Given the description of an element on the screen output the (x, y) to click on. 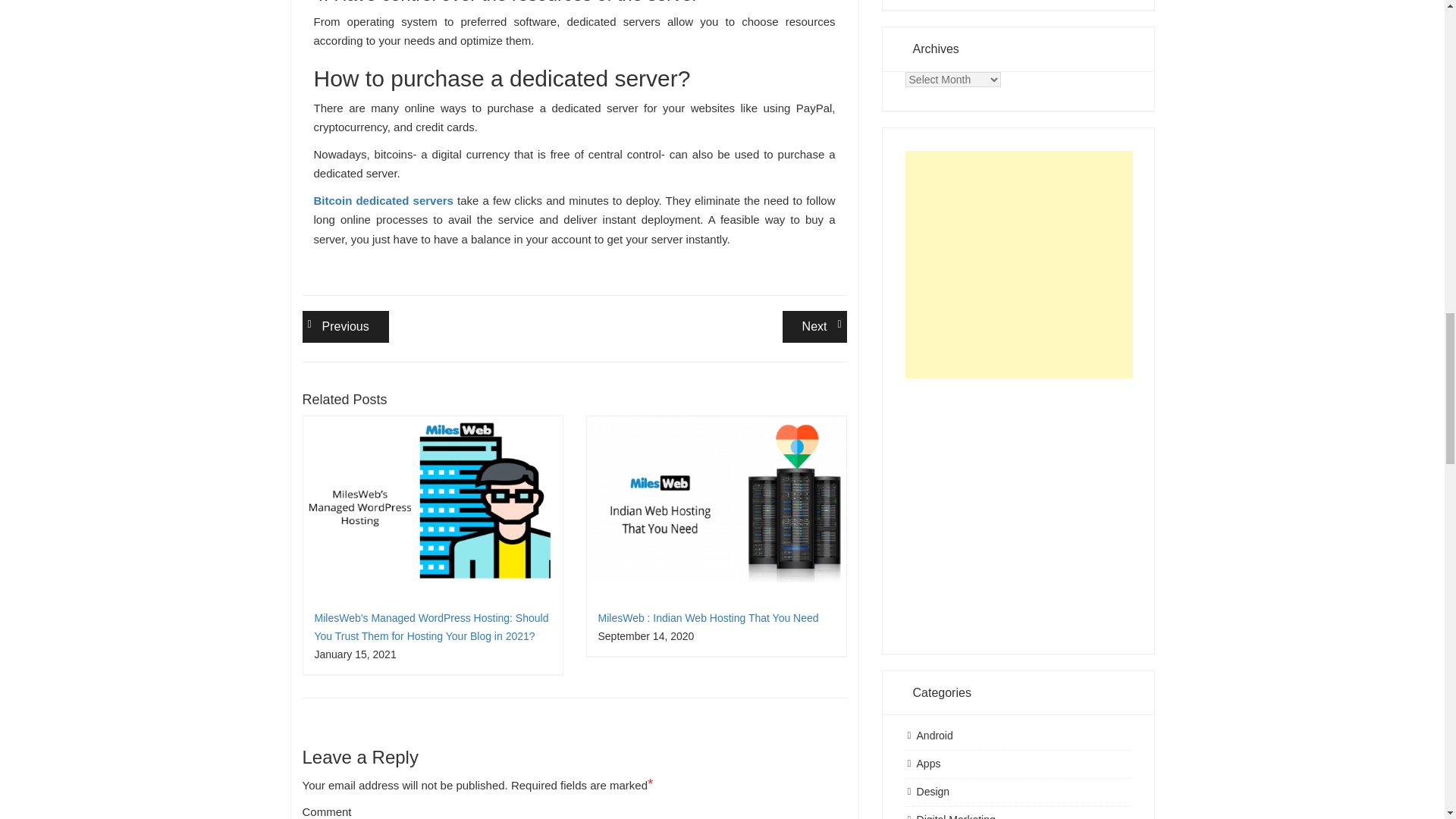
Advertisement (1018, 505)
Bitcoin dedicated servers (344, 327)
MilesWeb : Indian Web Hosting That You Need (815, 327)
